Given the description of an element on the screen output the (x, y) to click on. 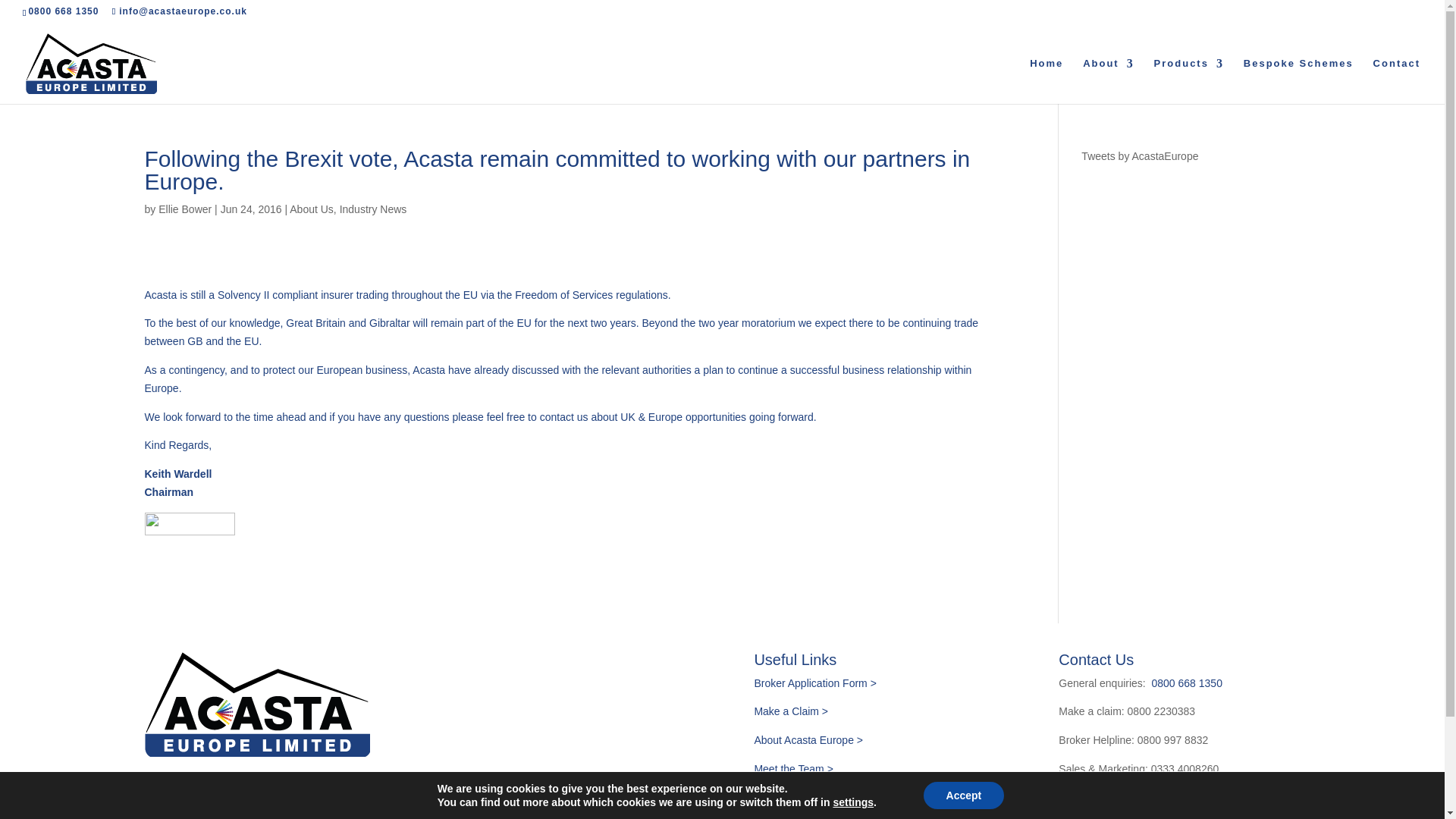
Tweets by AcastaEurope (1139, 155)
Acasta-Europe-Logo (256, 703)
Bespoke Schemes (1298, 81)
Contact (1397, 81)
Ellie Bower (184, 209)
Products (1189, 81)
About (1108, 81)
About Us (311, 209)
Posts by Ellie Bower (184, 209)
0800 668 1350 (63, 10)
Industry News (373, 209)
